Given the description of an element on the screen output the (x, y) to click on. 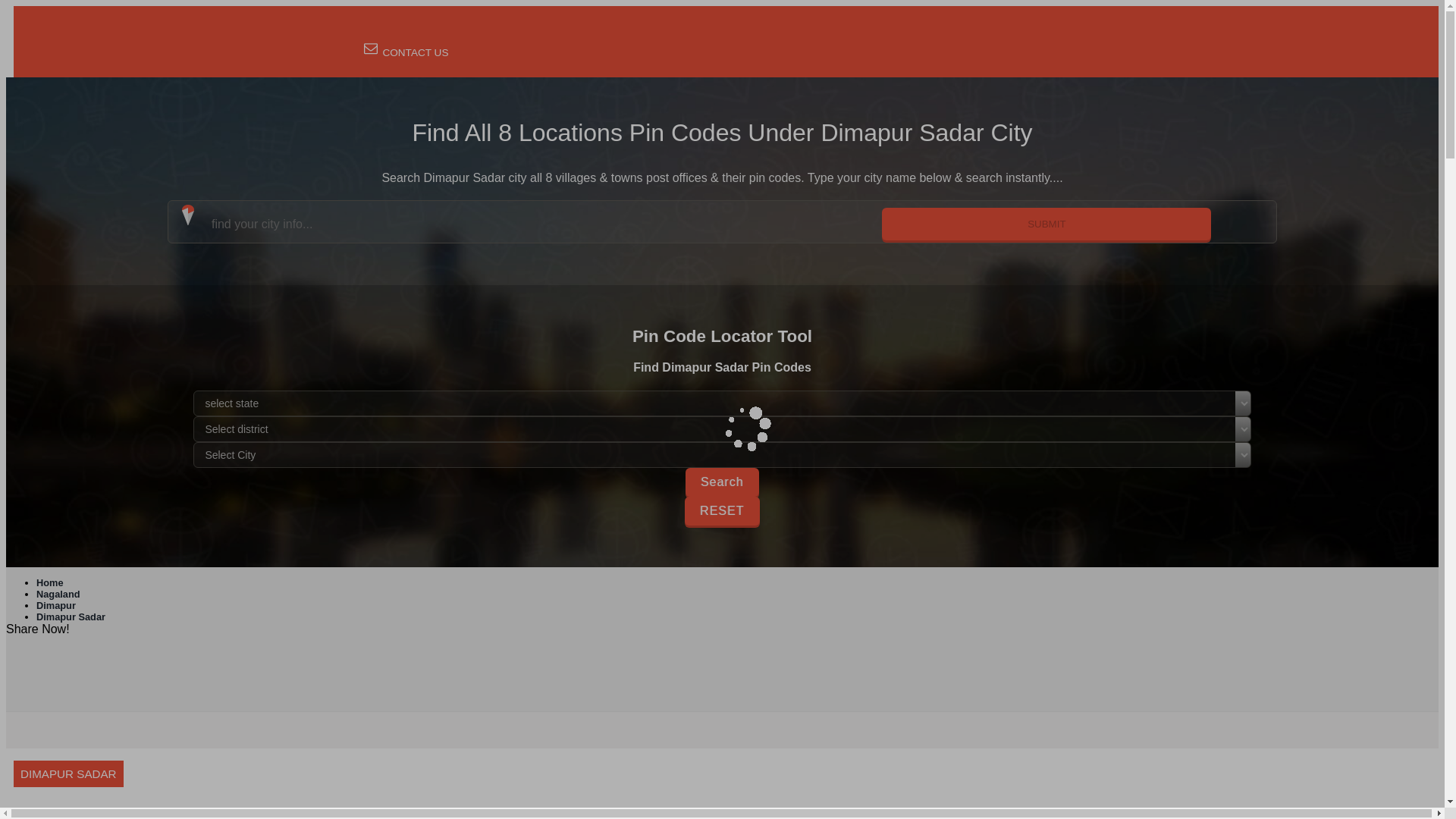
CONTACT US (405, 51)
HOME (416, 30)
Nagaland (58, 593)
DIMAPUR SADAR (722, 787)
Search (721, 481)
Dimapur Sadar (70, 616)
RESET (721, 510)
Home (50, 582)
RECENTLY SEARCHED LOCATIONS (673, 30)
submit (1046, 223)
SEARCH BY PIN CODE (509, 30)
submit (1046, 223)
Search (721, 481)
Search (721, 481)
Dimapur (55, 604)
